Given the description of an element on the screen output the (x, y) to click on. 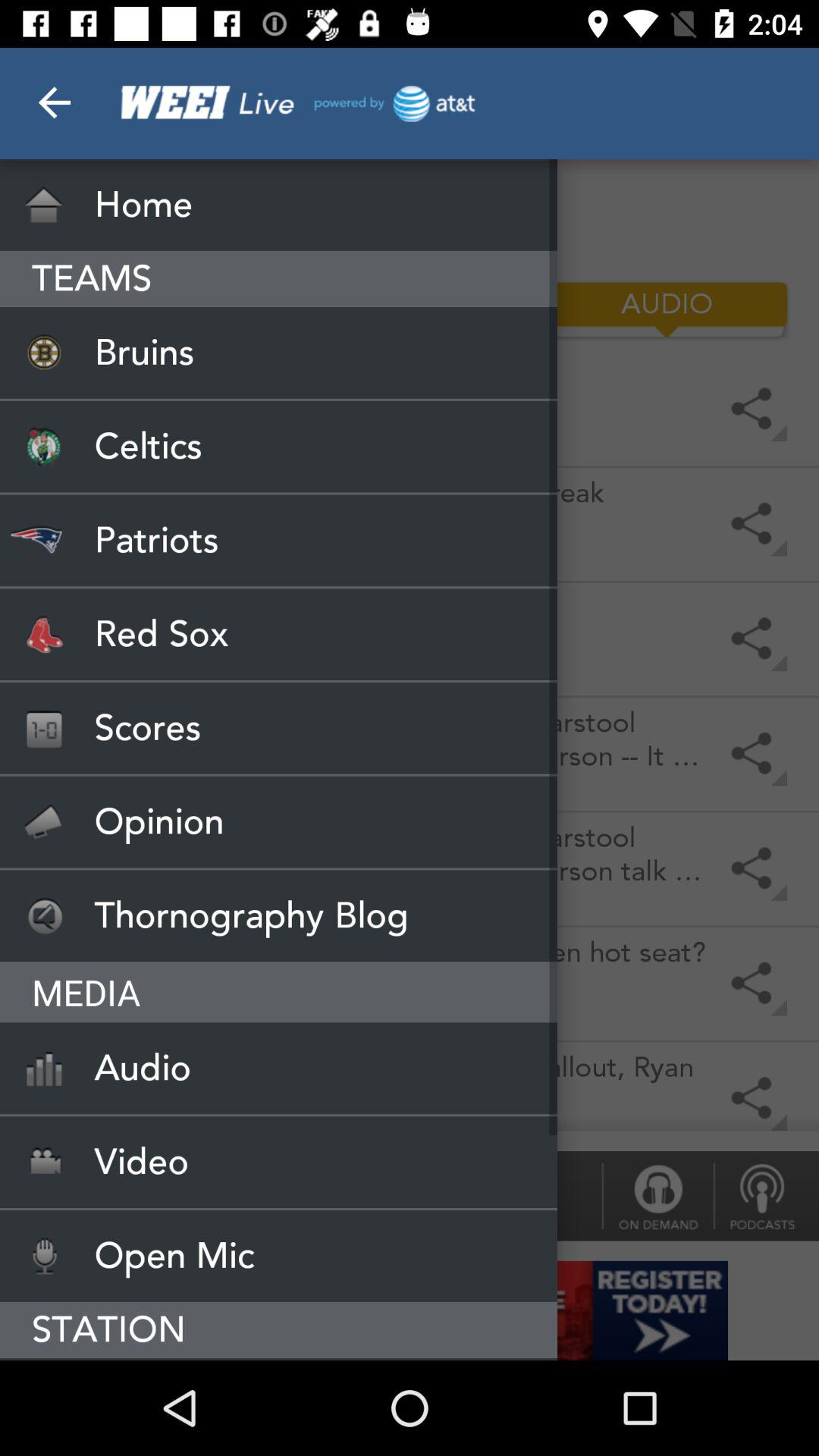
click icon next to dale & holley (657, 1196)
